Given the description of an element on the screen output the (x, y) to click on. 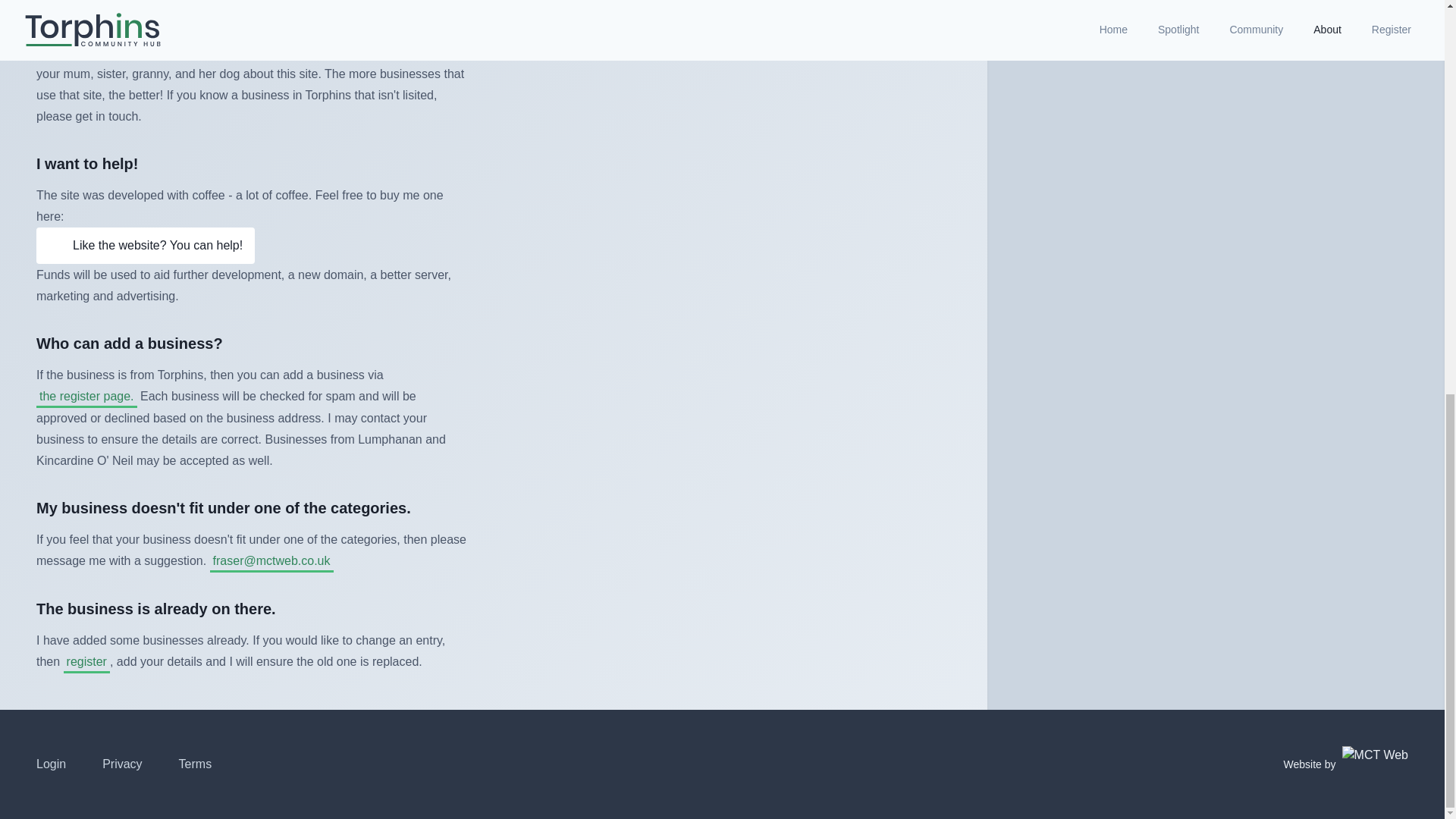
the register page. (86, 396)
register (87, 662)
Like the website? You can help! (145, 245)
Login (50, 764)
Privacy (121, 764)
Terms (195, 764)
